Given the description of an element on the screen output the (x, y) to click on. 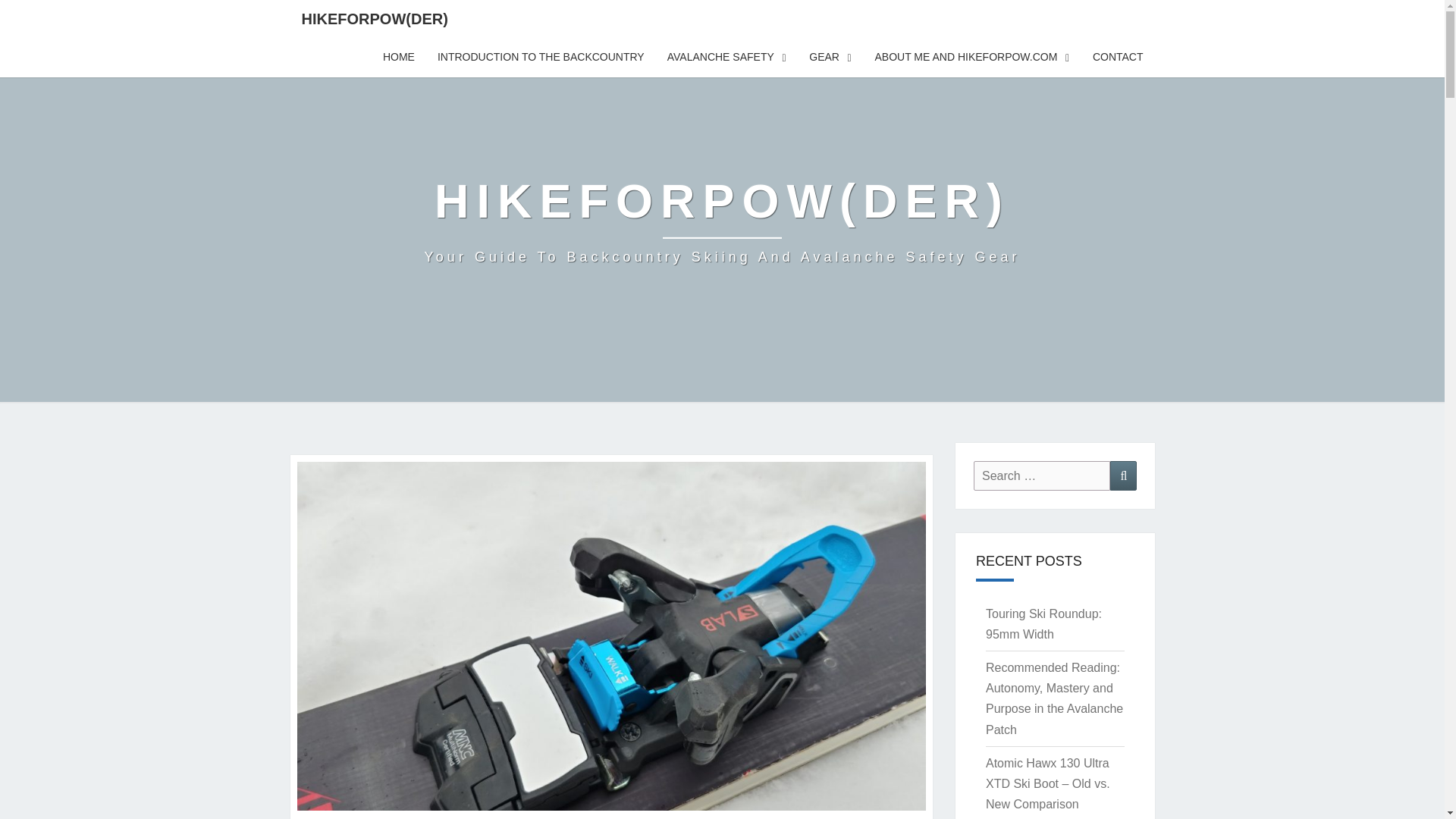
ABOUT ME AND HIKEFORPOW.COM (971, 56)
Search for: (1041, 475)
HOME (398, 56)
GEAR (830, 56)
AVALANCHE SAFETY (726, 56)
CONTACT (1117, 56)
INTRODUCTION TO THE BACKCOUNTRY (541, 56)
